Given the description of an element on the screen output the (x, y) to click on. 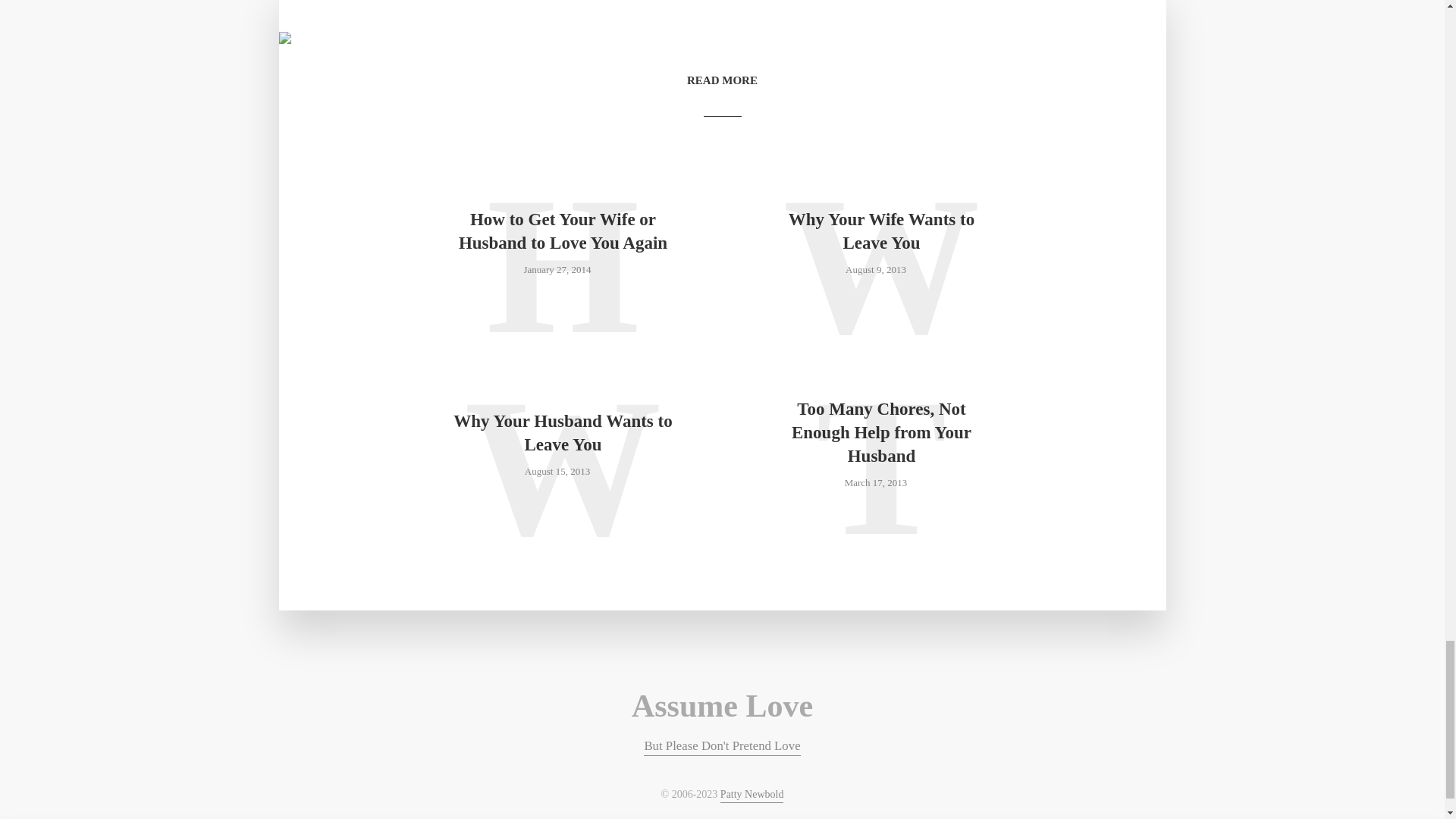
Why Your Husband Wants to Leave You (562, 432)
Why Your Wife Wants to Leave You (880, 231)
How to Get Your Wife or Husband to Love You Again (562, 231)
Too Many Chores, Not Enough Help from Your Husband (880, 432)
